Given the description of an element on the screen output the (x, y) to click on. 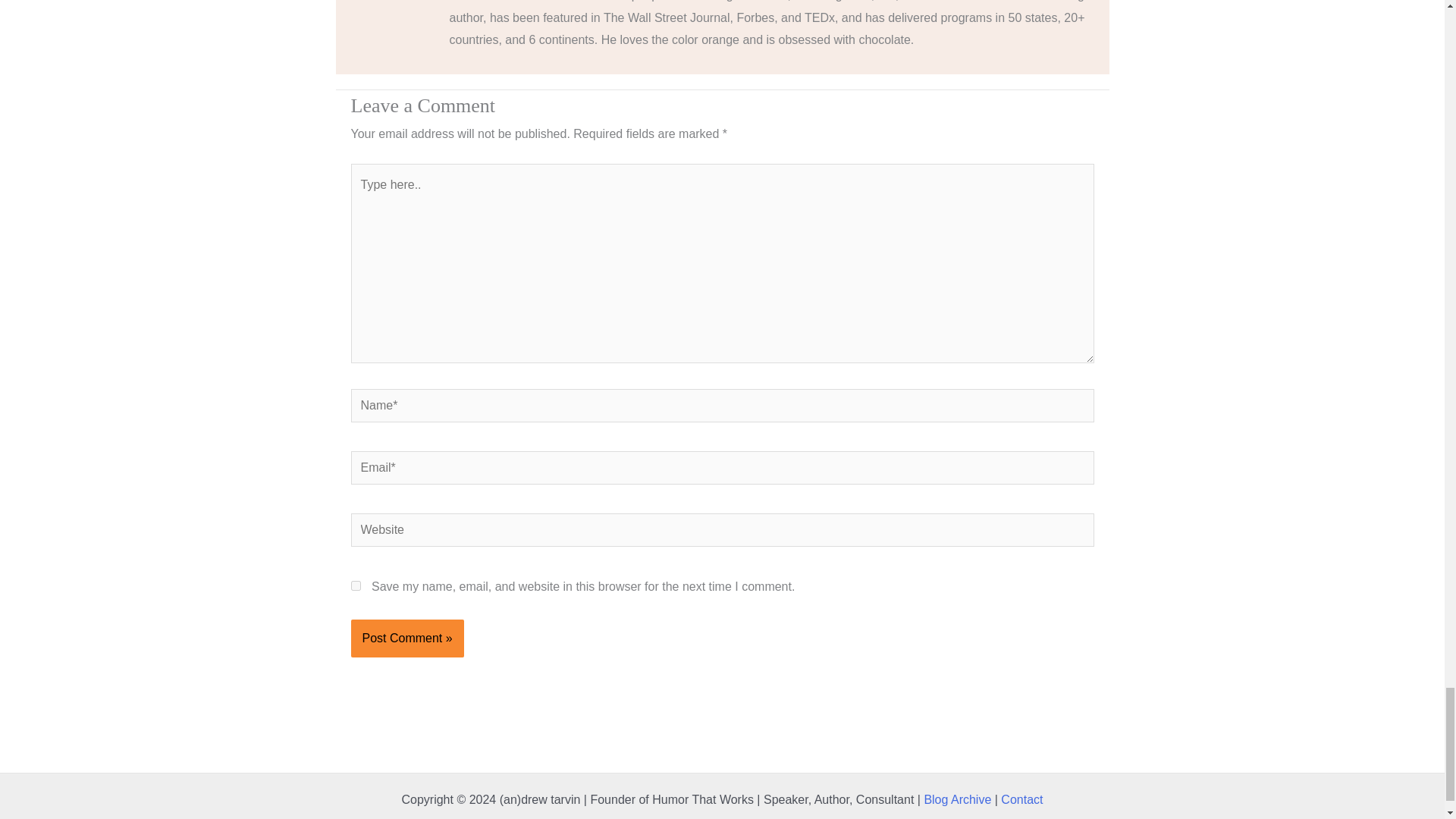
Blog Archive (957, 799)
yes (354, 585)
Contact (1021, 799)
